Given the description of an element on the screen output the (x, y) to click on. 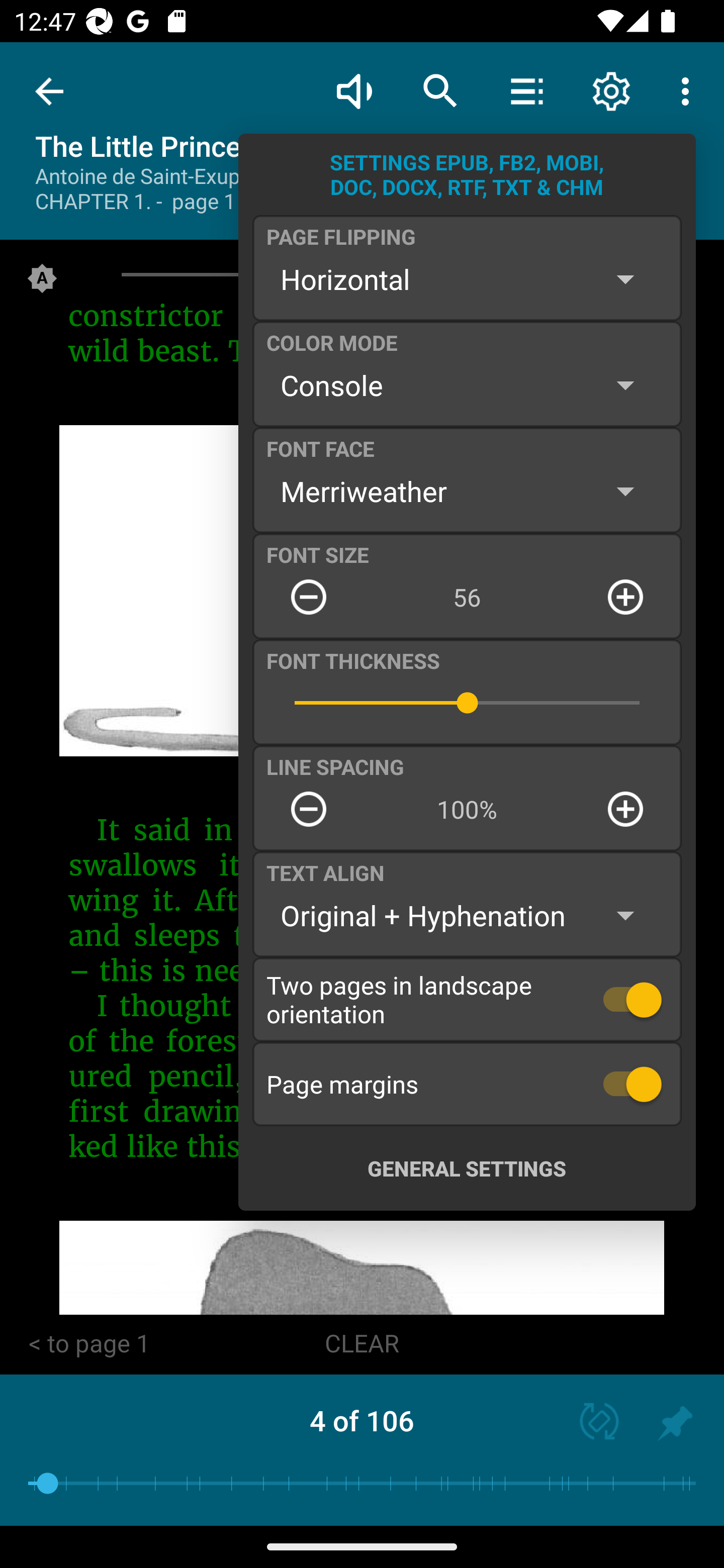
Horizontal (466, 278)
Console (466, 384)
Merriweather (466, 490)
Original + Hyphenation (466, 915)
Two pages in landscape orientation (467, 999)
Page margins (467, 1083)
GENERAL SETTINGS (466, 1167)
